Given the description of an element on the screen output the (x, y) to click on. 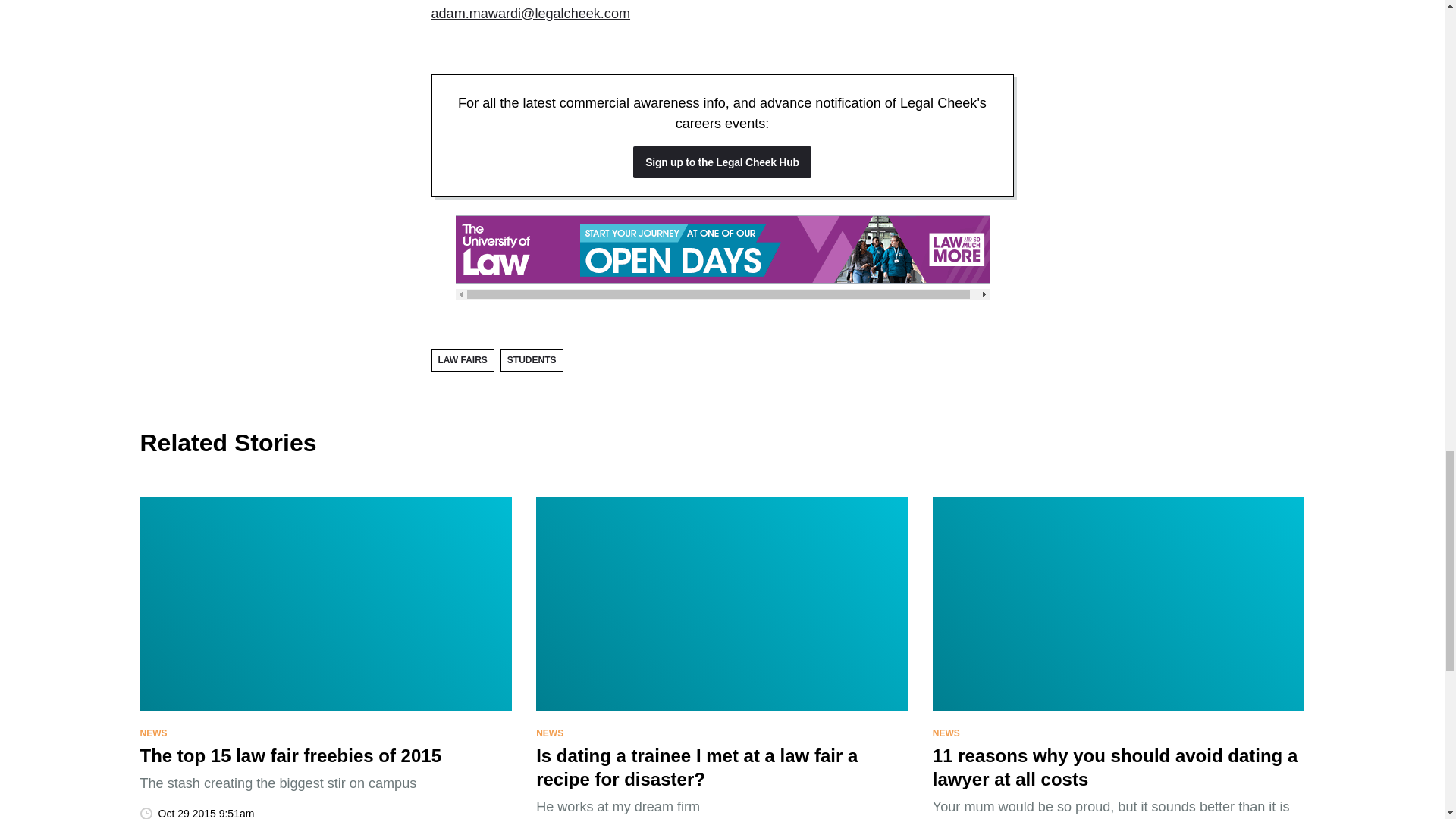
LAW FAIRS (461, 359)
STUDENTS (531, 359)
advertisement (721, 249)
Sign up to the Legal Cheek Hub (721, 162)
